Given the description of an element on the screen output the (x, y) to click on. 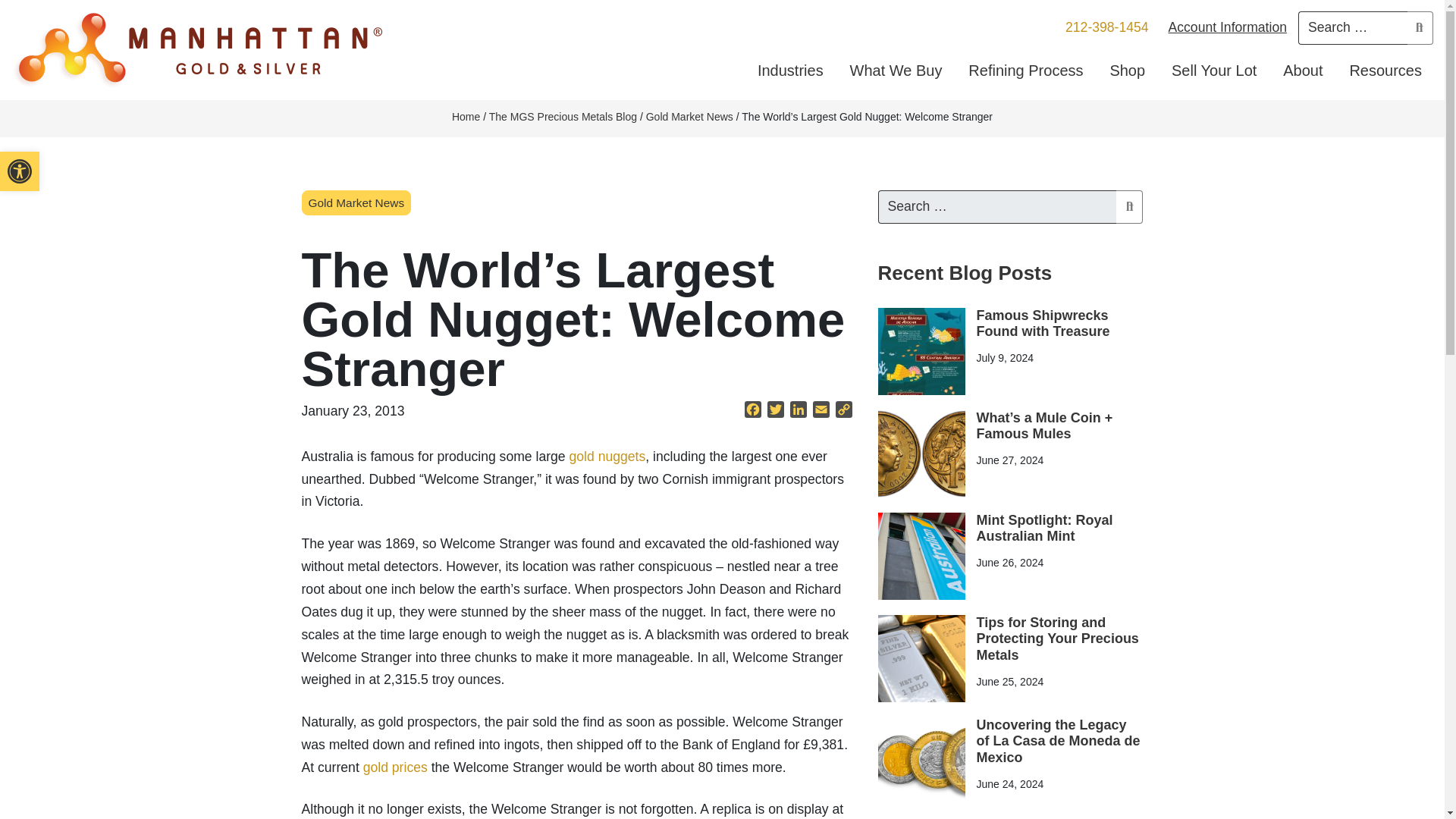
Twitter (775, 411)
Email (820, 411)
gold prices (395, 767)
Search for: (996, 206)
Search for: (1352, 28)
Copy Link (844, 411)
Accessibility Tools (19, 170)
hand of faith nugget (19, 170)
LinkedIn (607, 456)
Accessibility Tools (798, 411)
Facebook (19, 170)
